Given the description of an element on the screen output the (x, y) to click on. 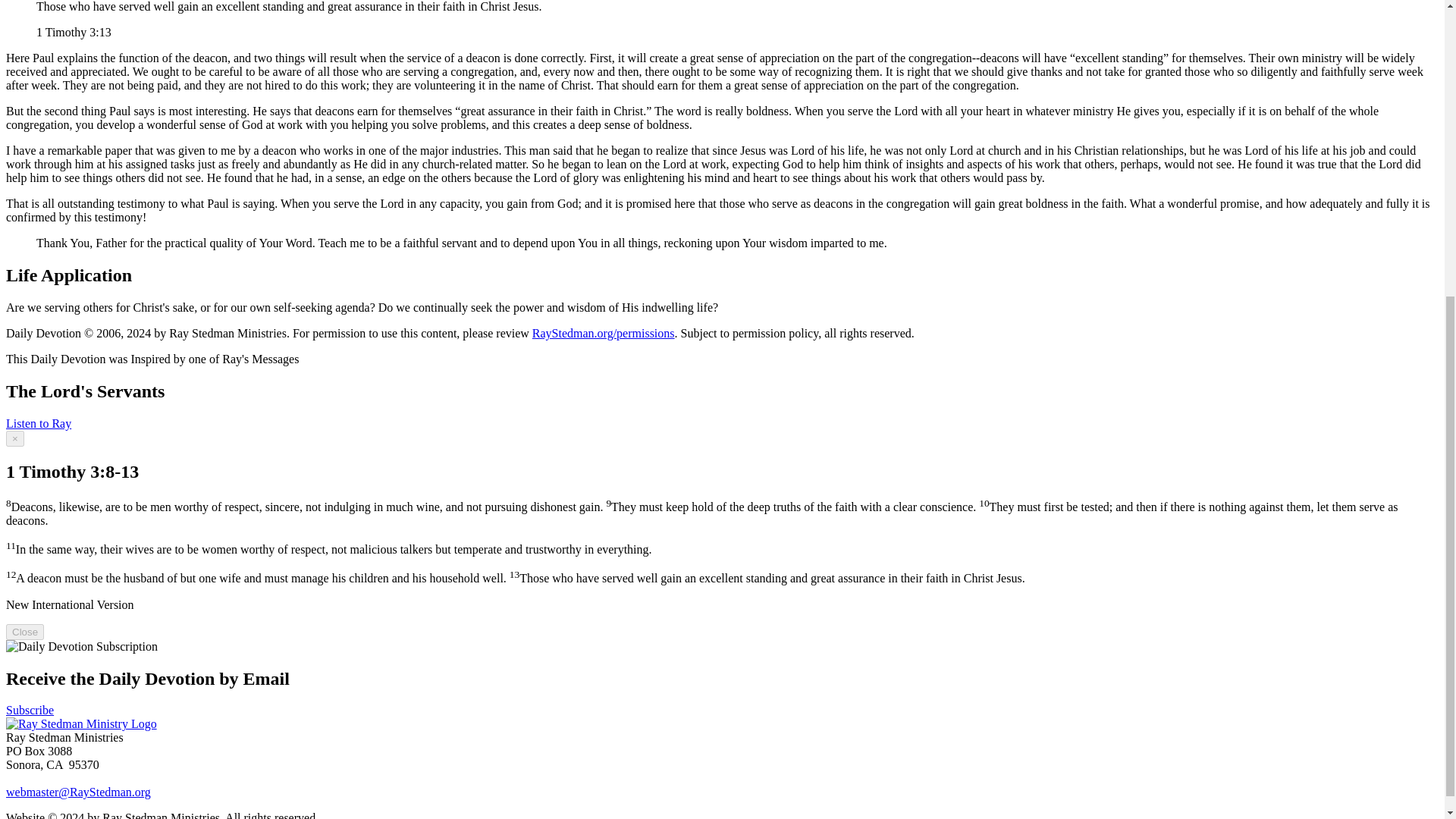
Home (81, 723)
Listen to Ray (38, 422)
Close (24, 631)
Subscribe (29, 709)
